Given the description of an element on the screen output the (x, y) to click on. 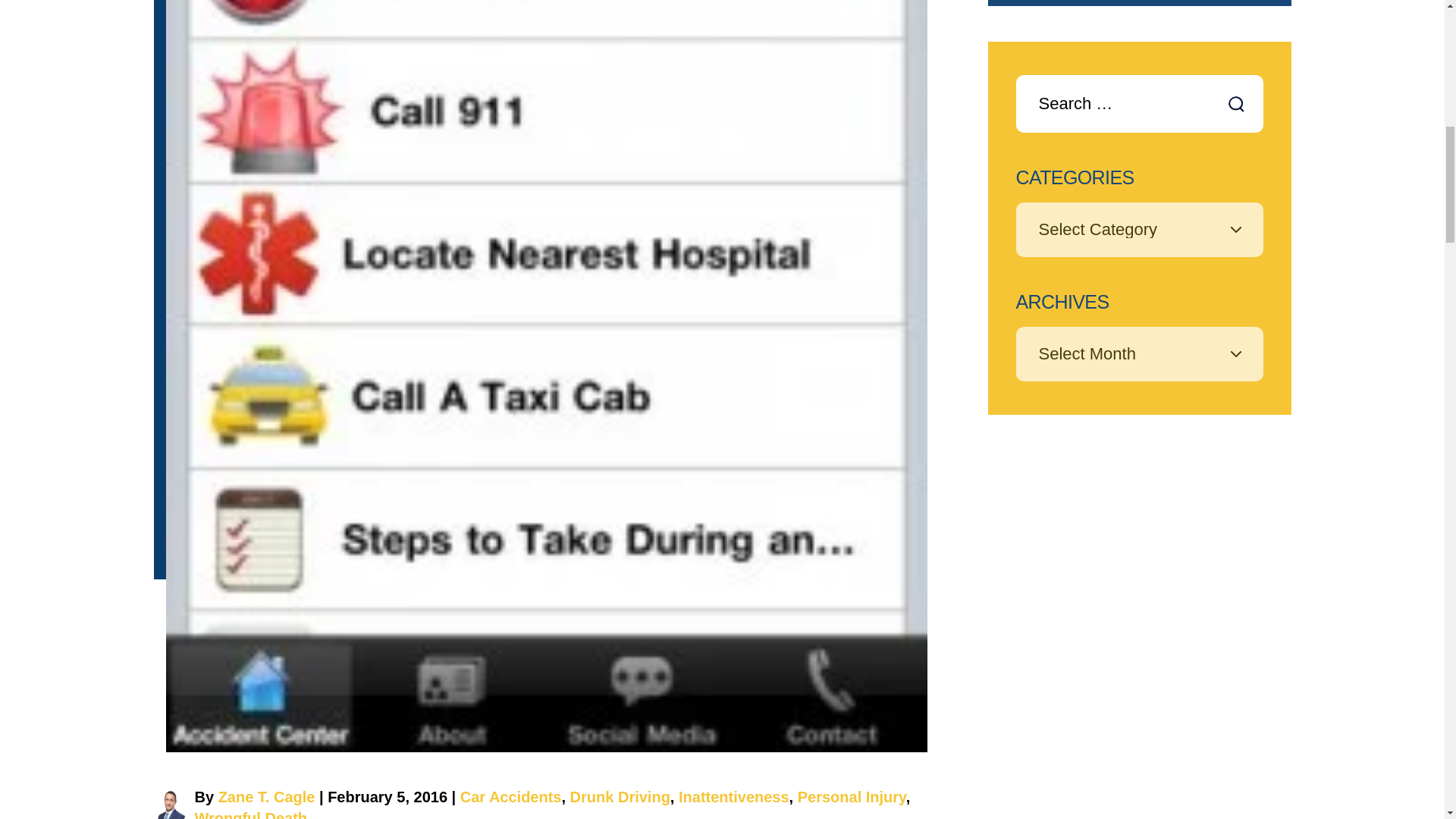
Search (1237, 104)
Search (1237, 104)
